Given the description of an element on the screen output the (x, y) to click on. 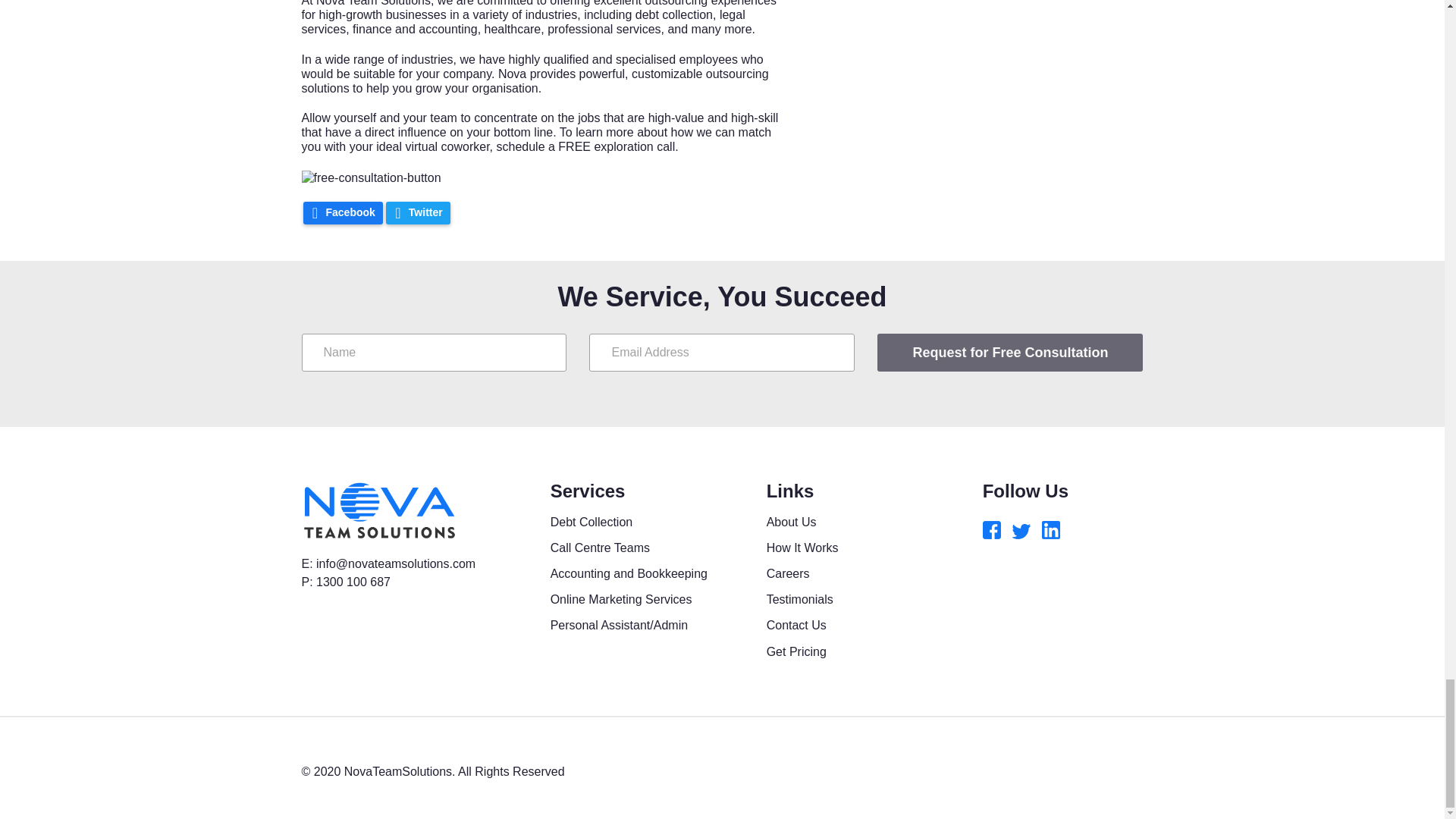
Twitter (417, 212)
Share this article on Facebook (342, 212)
Facebook (342, 212)
Request for Free Consultation (1009, 352)
Allow (315, 117)
Share this article on Twitter (417, 212)
